Given the description of an element on the screen output the (x, y) to click on. 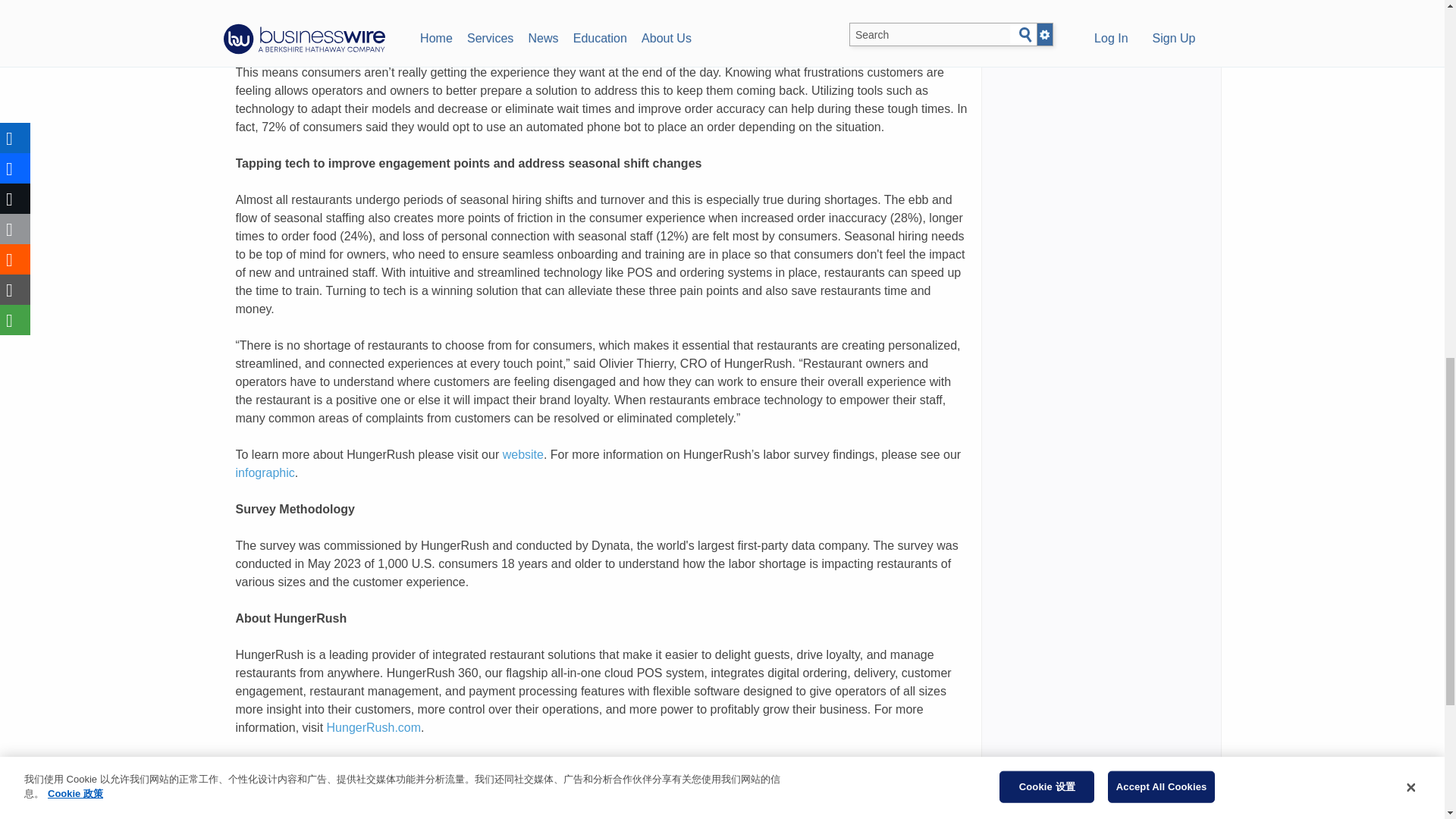
HungerRush.com (374, 727)
infographic (264, 472)
website (522, 454)
